Given the description of an element on the screen output the (x, y) to click on. 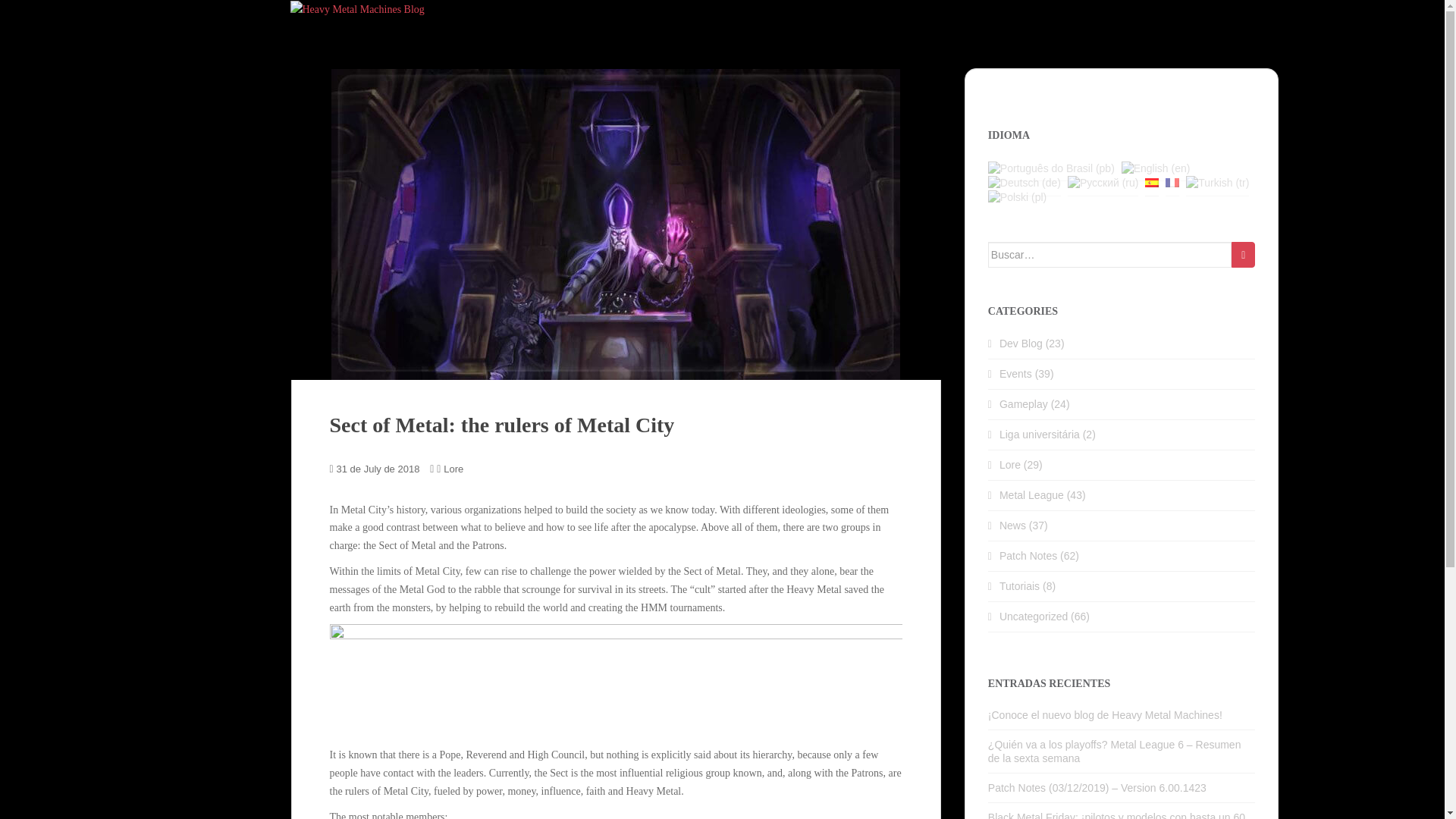
Patch Notes (1027, 555)
Events (1015, 373)
31 de July de 2018 (378, 469)
Lore (453, 469)
Buscar (1243, 254)
News (1012, 525)
Metal League (1031, 494)
Dev Blog (1020, 343)
Gameplay (1023, 404)
Lore (1009, 464)
